Given the description of an element on the screen output the (x, y) to click on. 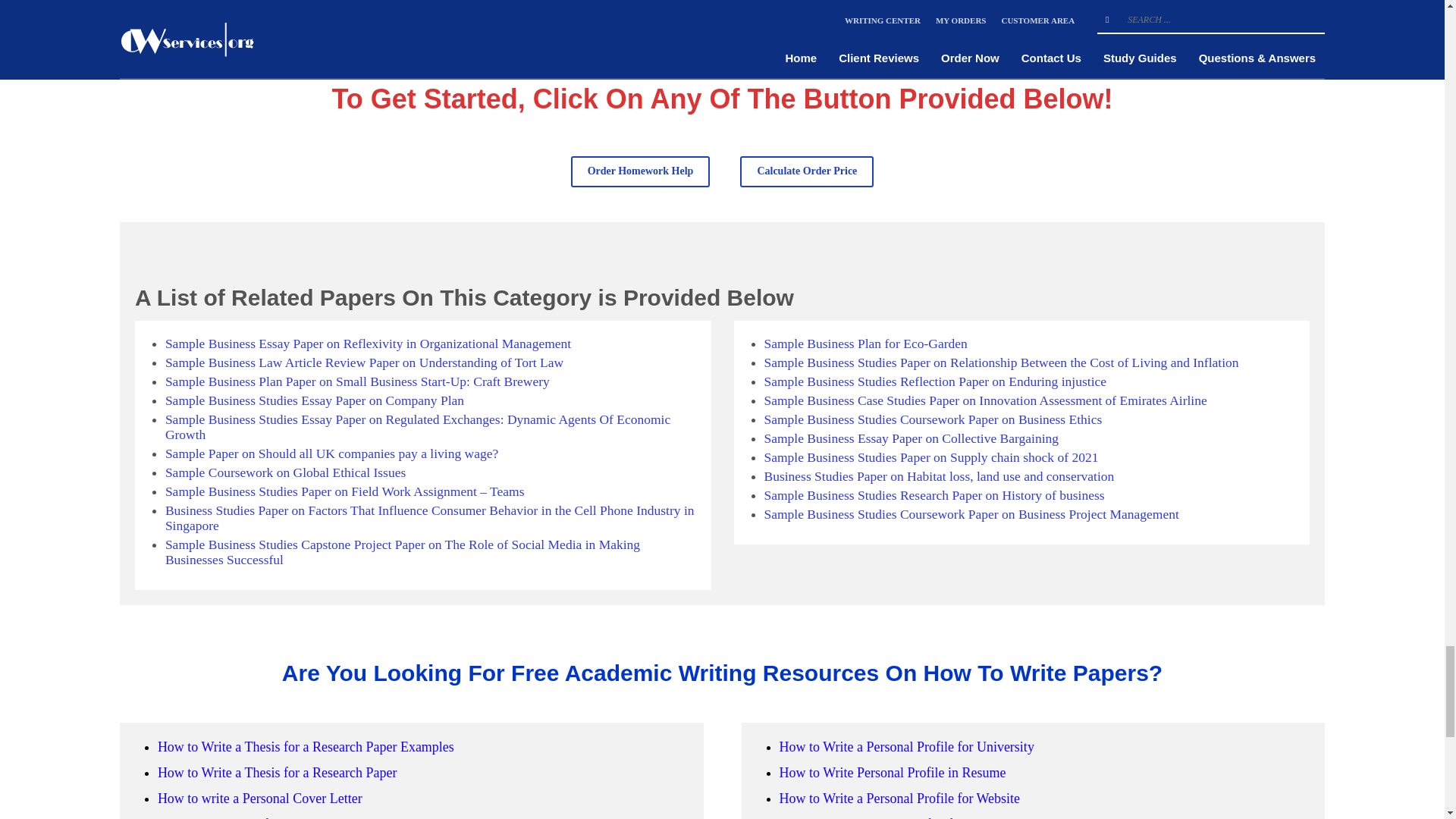
Order Homework Help (640, 171)
Sample Business Studies Essay Paper on Company Plan (314, 400)
Sample Paper on Should all UK companies pay a living wage? (331, 453)
Calculate Order Price (806, 171)
